Given the description of an element on the screen output the (x, y) to click on. 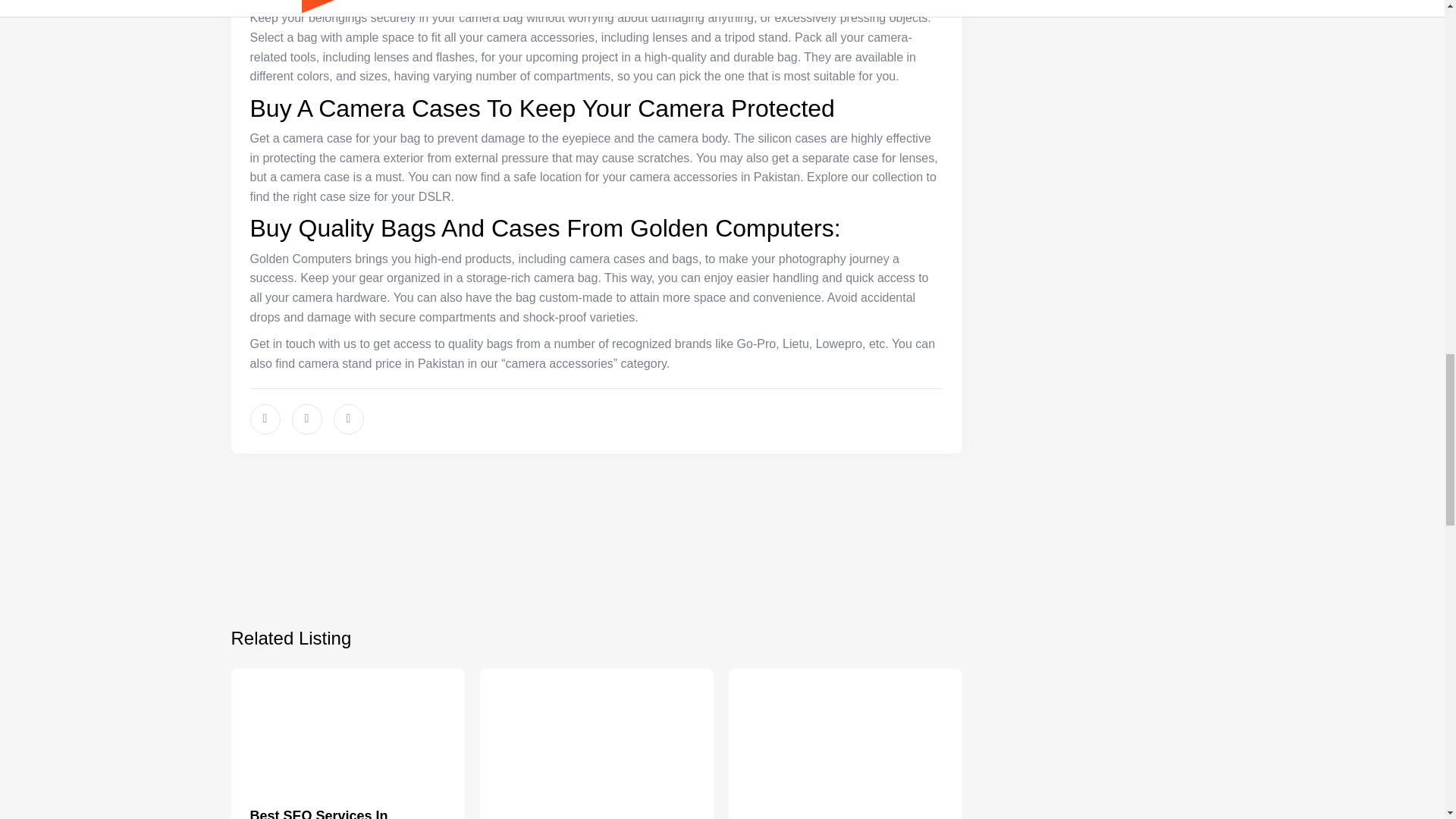
Advertisement (596, 529)
